Given the description of an element on the screen output the (x, y) to click on. 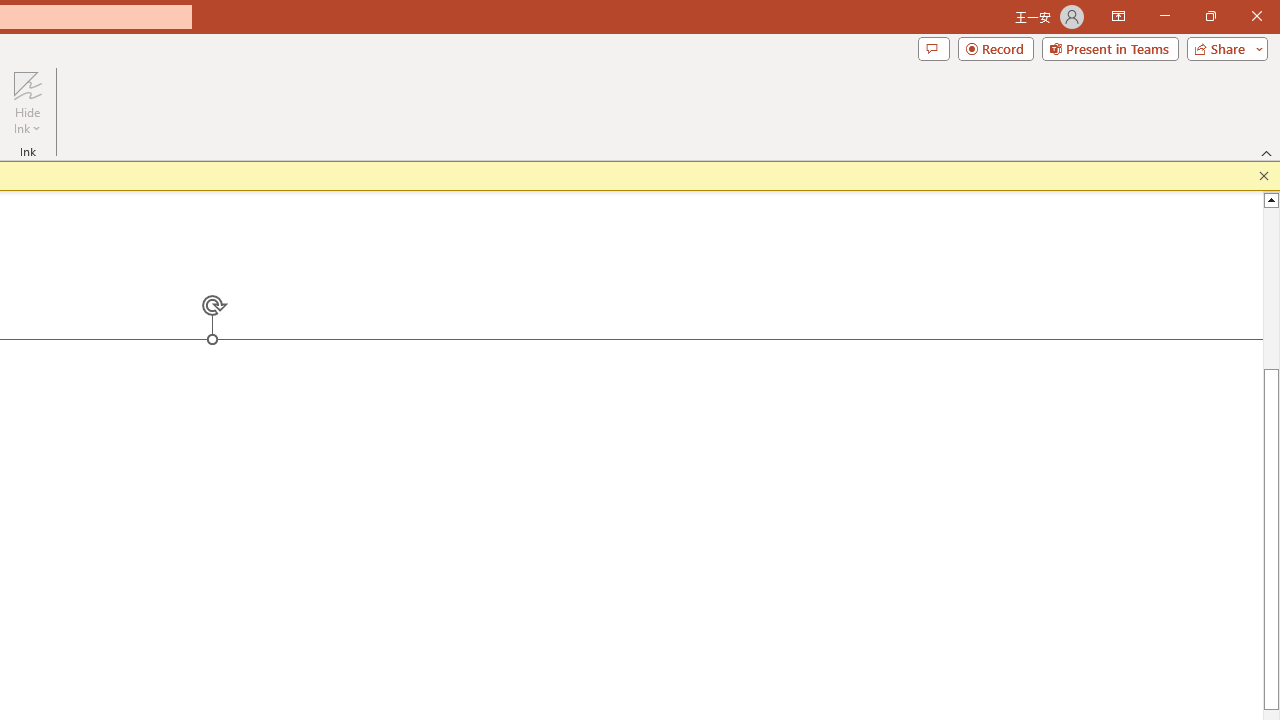
Close this message (1263, 176)
